Given the description of an element on the screen output the (x, y) to click on. 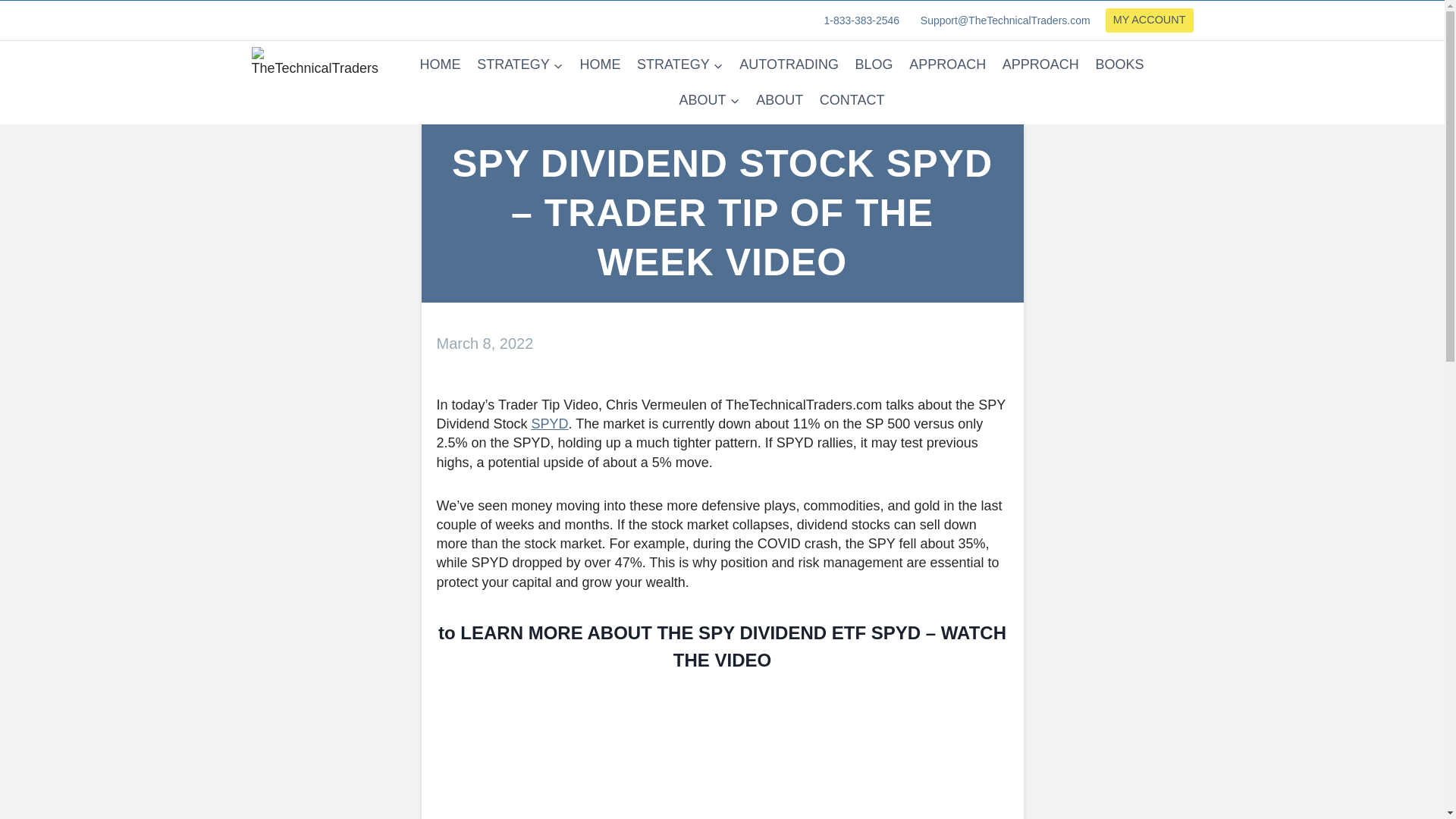
STRATEGY (679, 64)
SPYD (550, 423)
 1-833-383-2546 (860, 20)
CONTACT (851, 99)
HOME (600, 64)
AUTOTRADING (787, 64)
BOOKS (1120, 64)
APPROACH (947, 64)
HOME (440, 64)
MY ACCOUNT (1149, 20)
